Given the description of an element on the screen output the (x, y) to click on. 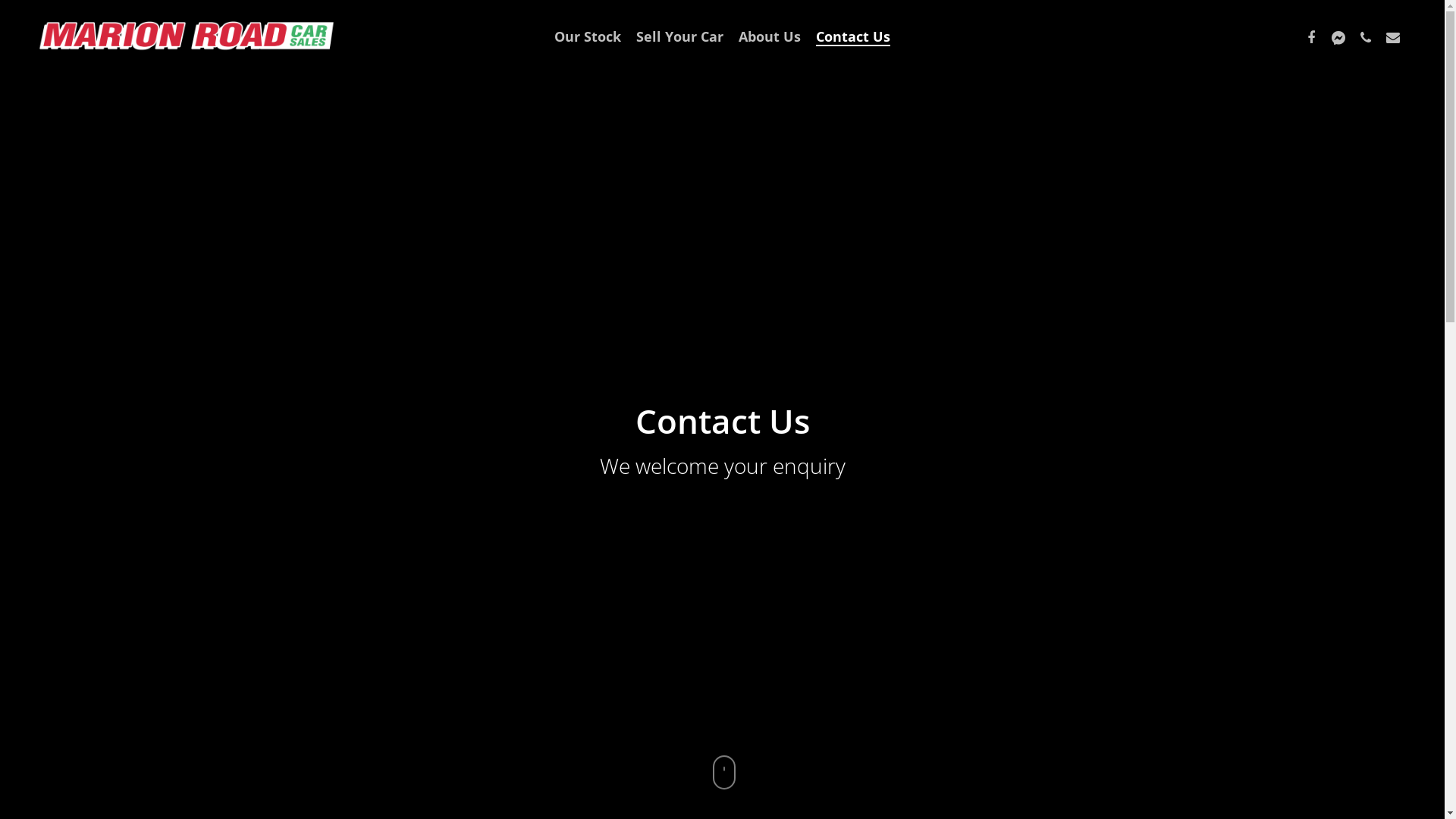
Our Stock Element type: text (587, 35)
Contact Us Element type: text (852, 35)
About Us Element type: text (769, 35)
Sell Your Car Element type: text (679, 35)
